Given the description of an element on the screen output the (x, y) to click on. 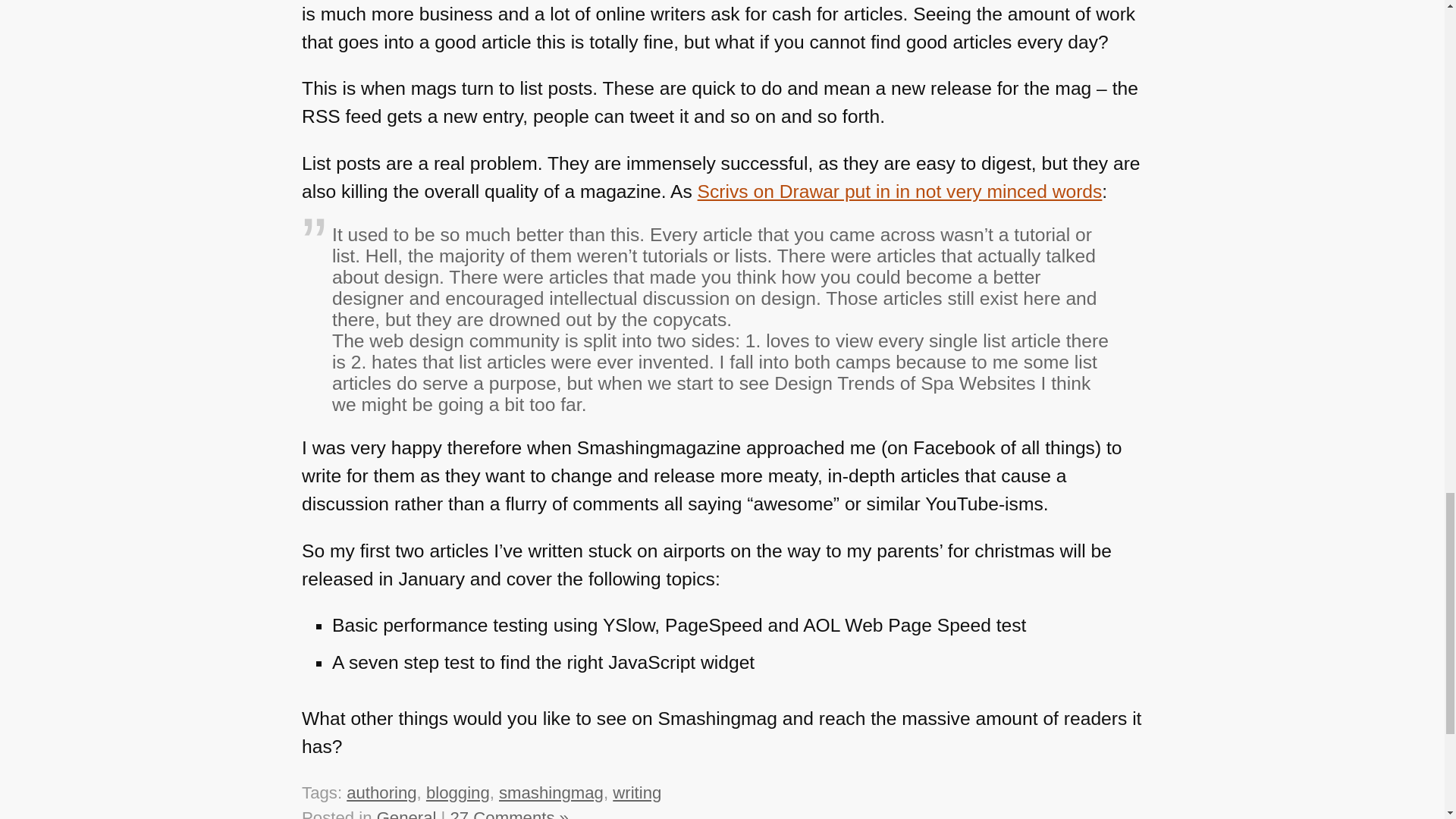
blogging (457, 792)
authoring (381, 792)
Scrivs on Drawar put in in not very minced words (899, 190)
